Given the description of an element on the screen output the (x, y) to click on. 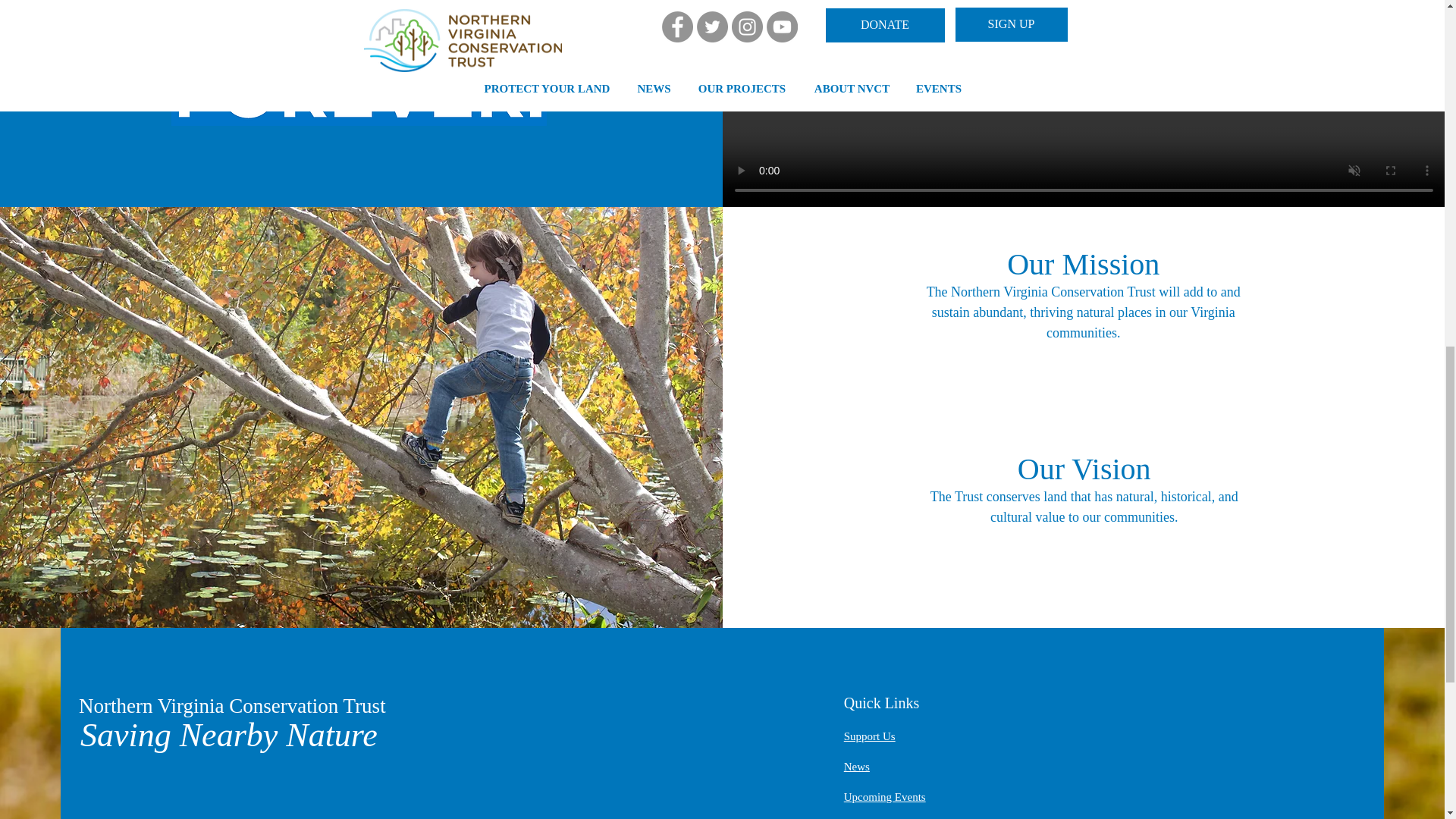
Upcoming Events (885, 797)
Support Us (869, 736)
News (856, 766)
